Given the description of an element on the screen output the (x, y) to click on. 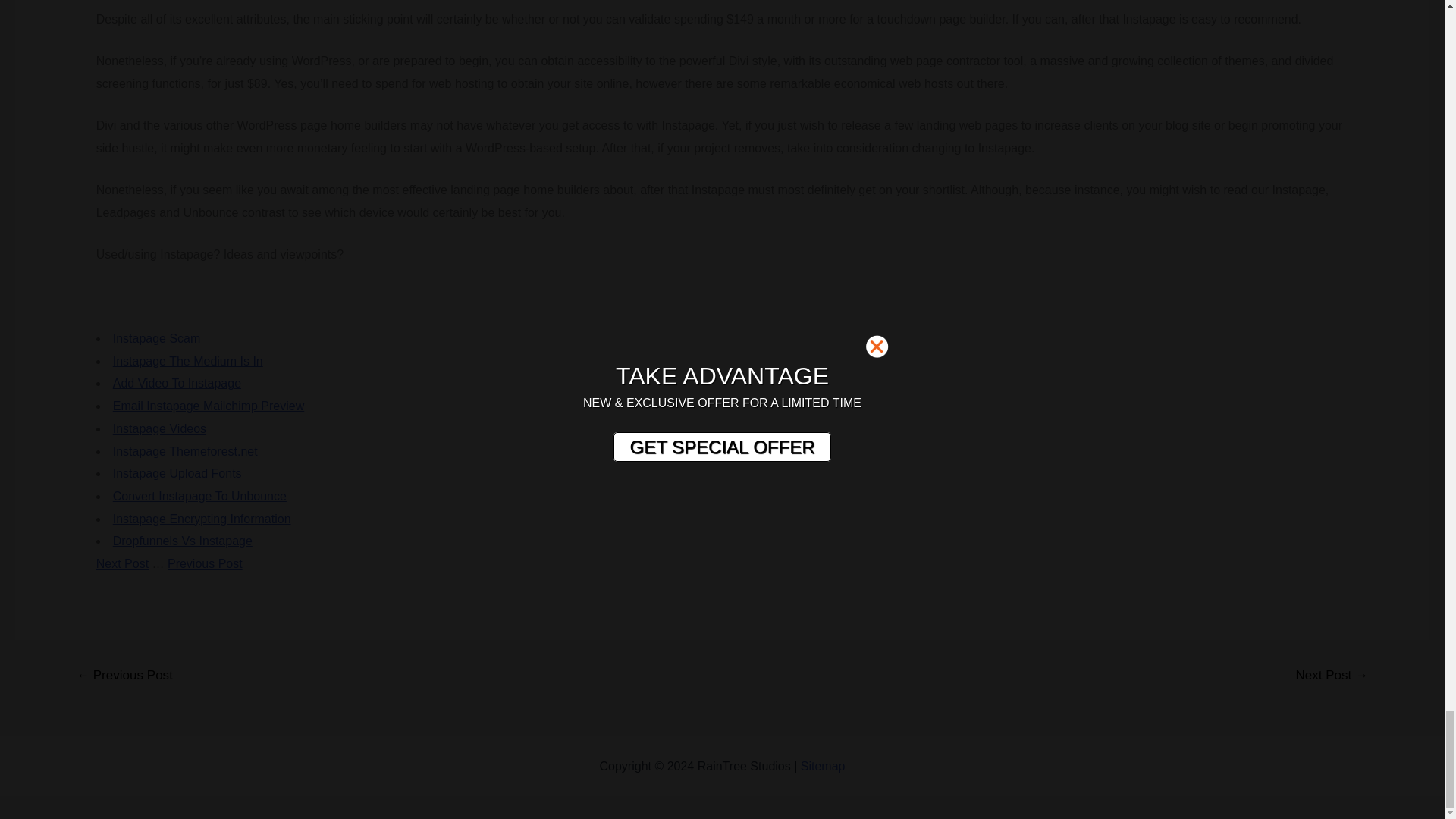
Sitemap (822, 766)
Add Video To Instapage (177, 382)
Instapage Videos (159, 428)
Instapage The Medium Is In (188, 360)
Instapage The Medium Is In (188, 360)
Previous Post (205, 563)
Next Post (122, 563)
Dropfunnels Vs Instapage (182, 540)
Instapage Videos (159, 428)
Instapage Scam (156, 338)
